Given the description of an element on the screen output the (x, y) to click on. 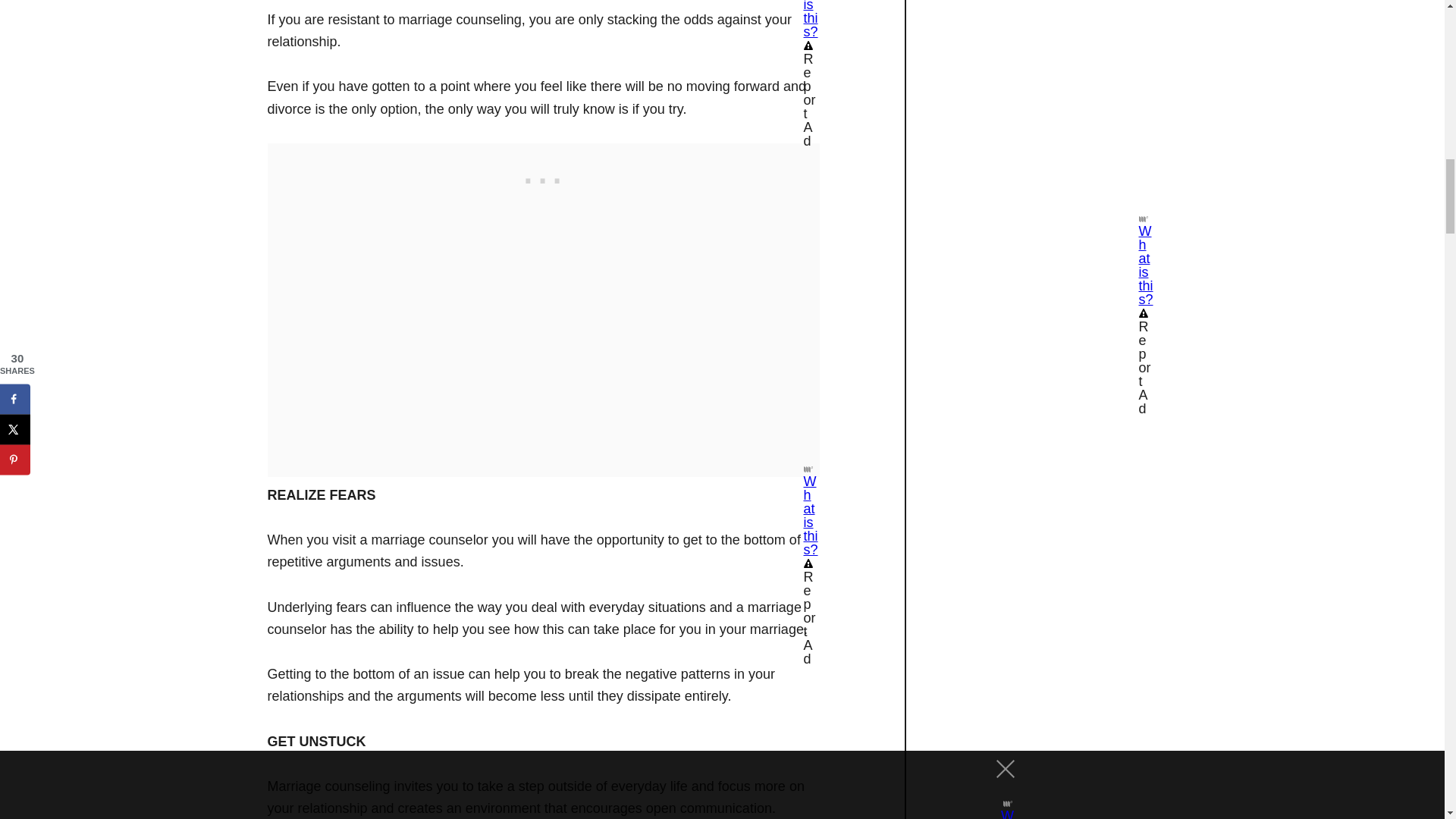
3rd party ad content (542, 177)
